Given the description of an element on the screen output the (x, y) to click on. 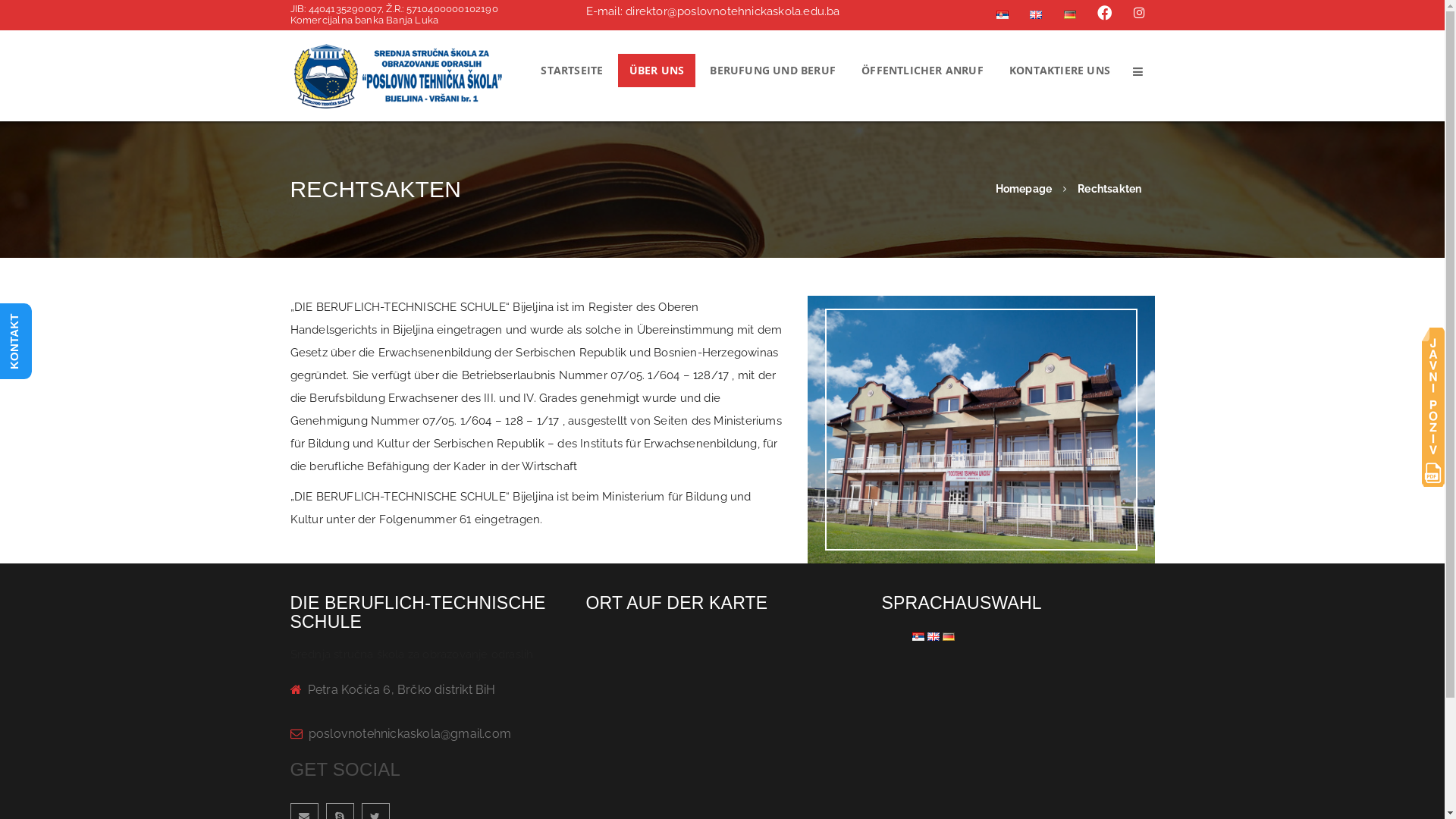
Instagram Element type: text (1139, 12)
Facebook Element type: text (1104, 13)
STARTSEITE Element type: text (571, 70)
direktor@poslovnotehnickaskola.edu.ba Element type: text (732, 11)
BERUFUNG UND BERUF Element type: text (772, 70)
KONTAKTIERE UNS Element type: text (1059, 70)
poslovnotehnickaskola@gmail.com Element type: text (409, 733)
Homepage Element type: text (1023, 188)
